Given the description of an element on the screen output the (x, y) to click on. 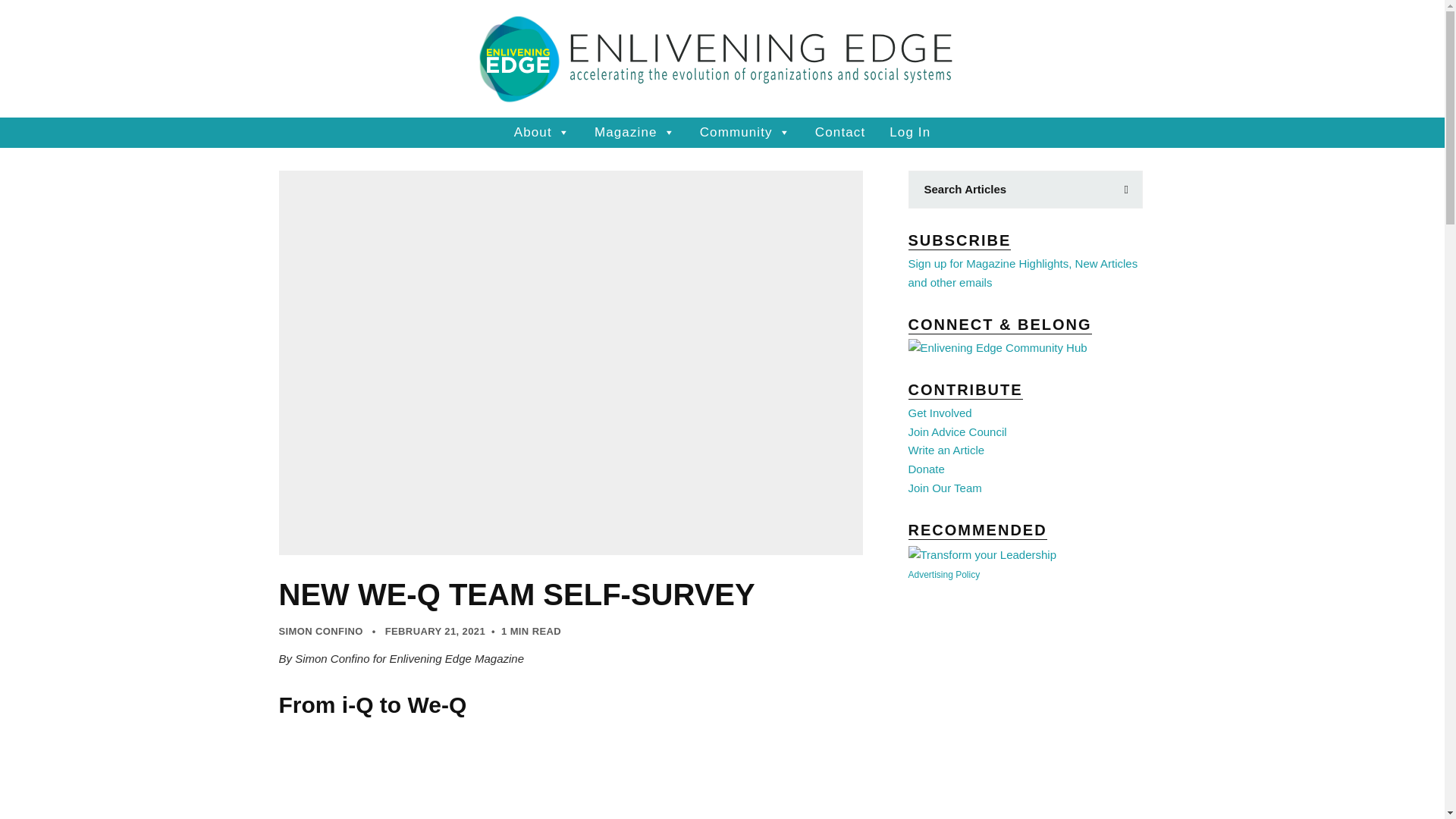
Log In (909, 132)
Contact (840, 132)
SIMON CONFINO (320, 631)
Magazine (634, 132)
Posts by Simon Confino (320, 631)
Community (745, 132)
About (542, 132)
